Given the description of an element on the screen output the (x, y) to click on. 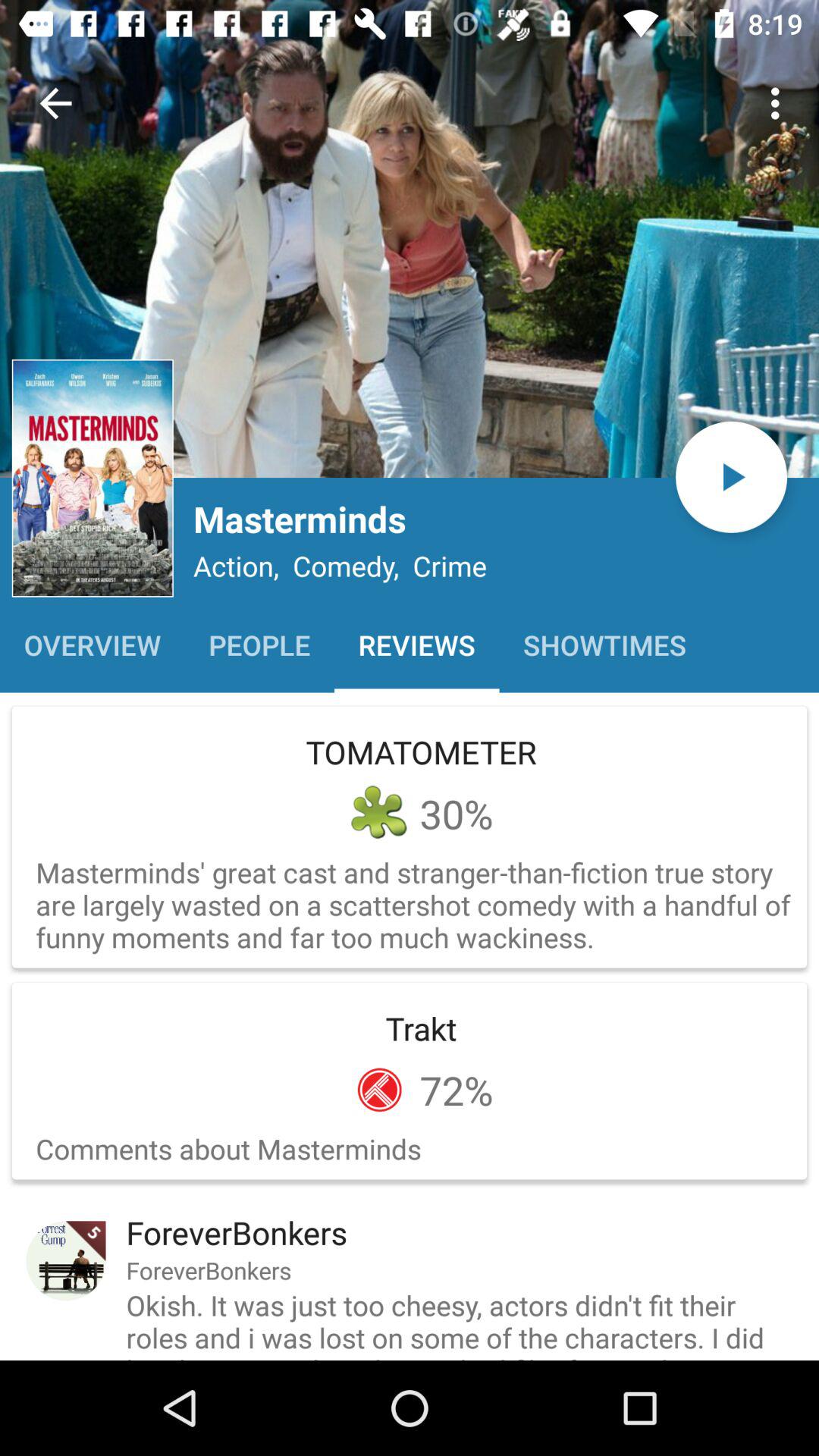
play trailer (731, 476)
